Given the description of an element on the screen output the (x, y) to click on. 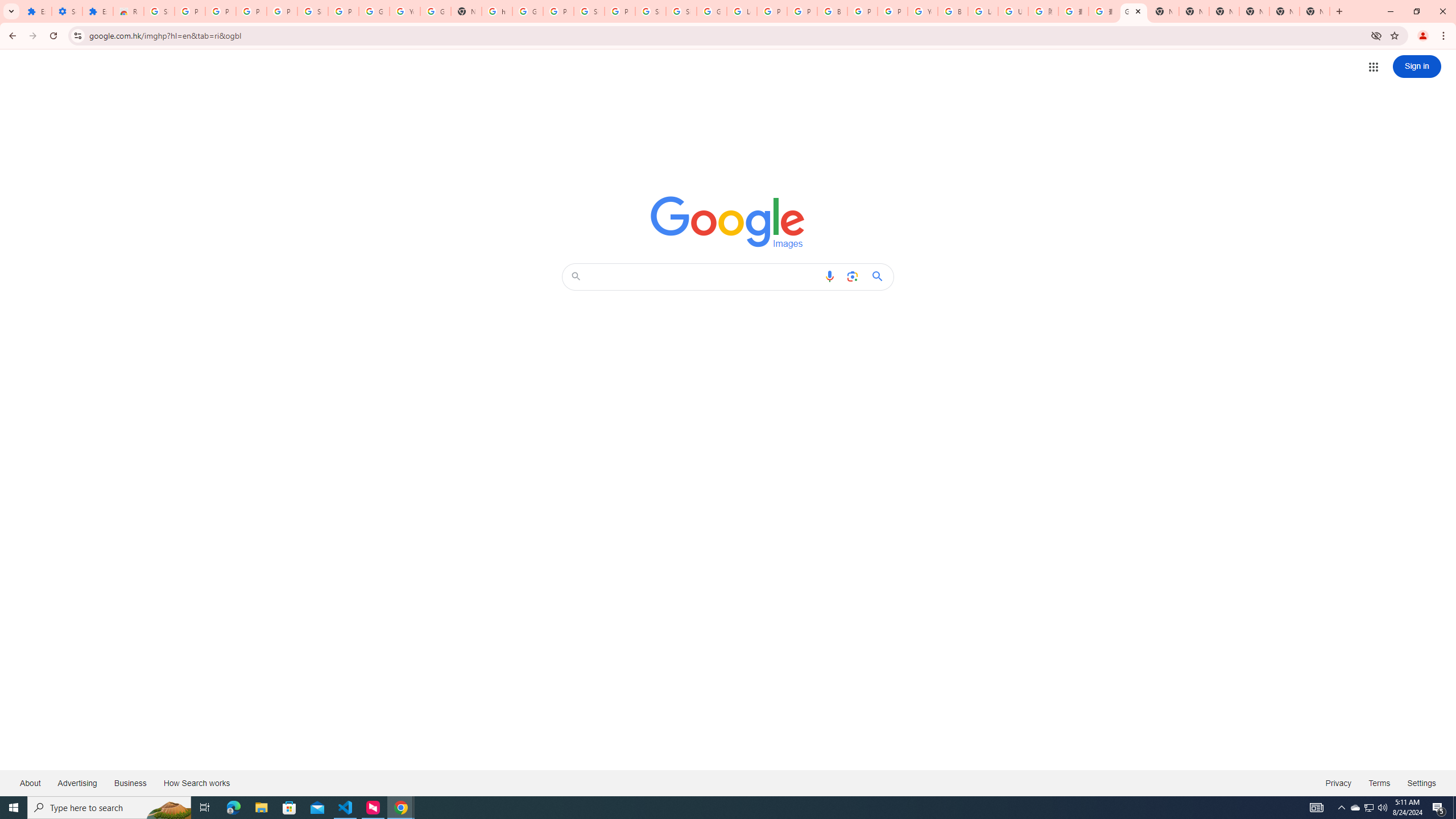
Business (129, 782)
How Search works (196, 782)
Advertising (77, 782)
Sign in - Google Accounts (650, 11)
YouTube (922, 11)
